Given the description of an element on the screen output the (x, y) to click on. 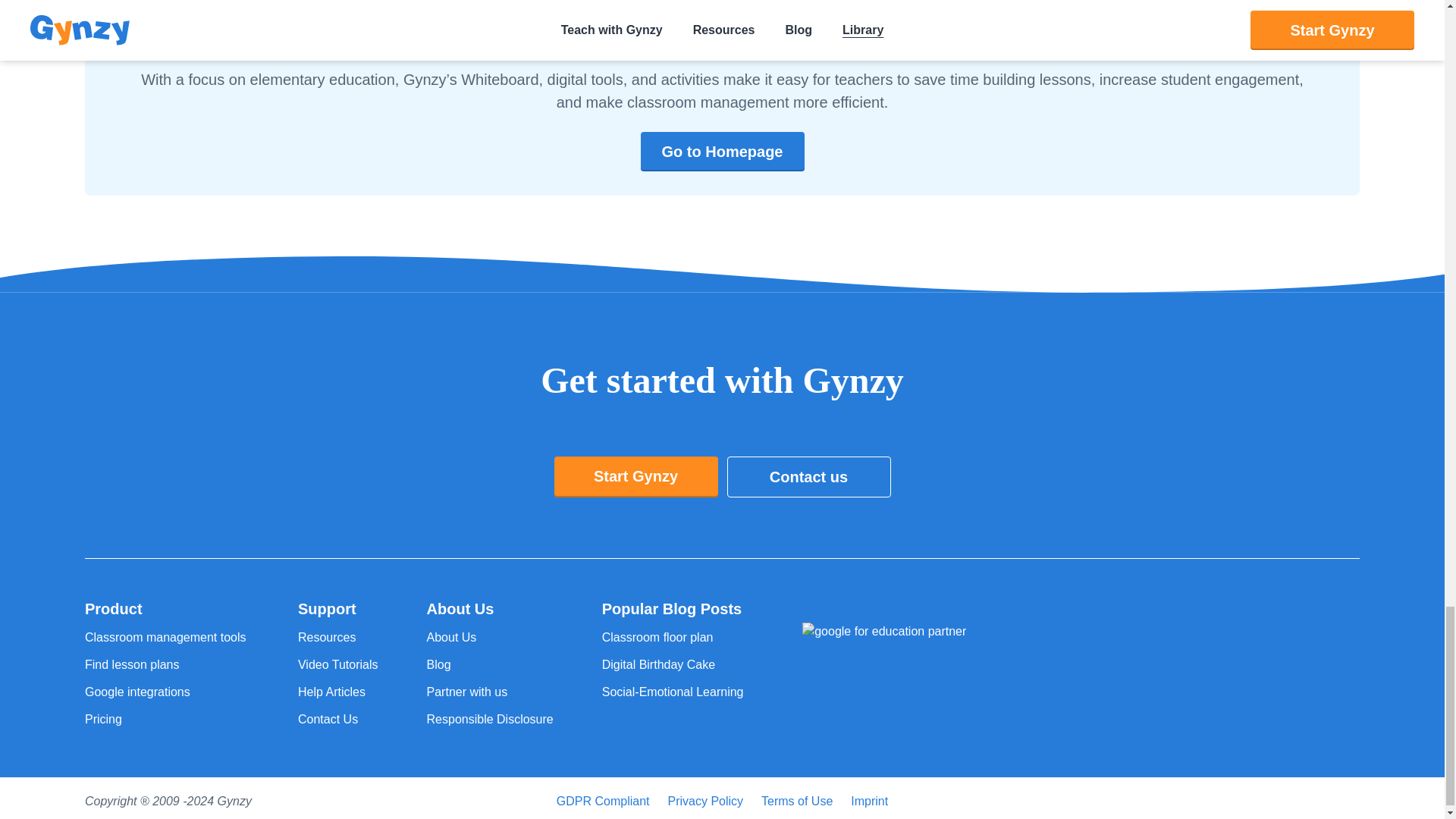
Start Gynzy (635, 476)
Support (338, 608)
Go to Homepage (721, 151)
Video Tutorials (338, 665)
Contact us (807, 476)
Find lesson plans (166, 665)
Resources (338, 637)
Google integrations (166, 692)
Product (166, 608)
Pricing (166, 719)
Classroom management tools  (166, 637)
